Given the description of an element on the screen output the (x, y) to click on. 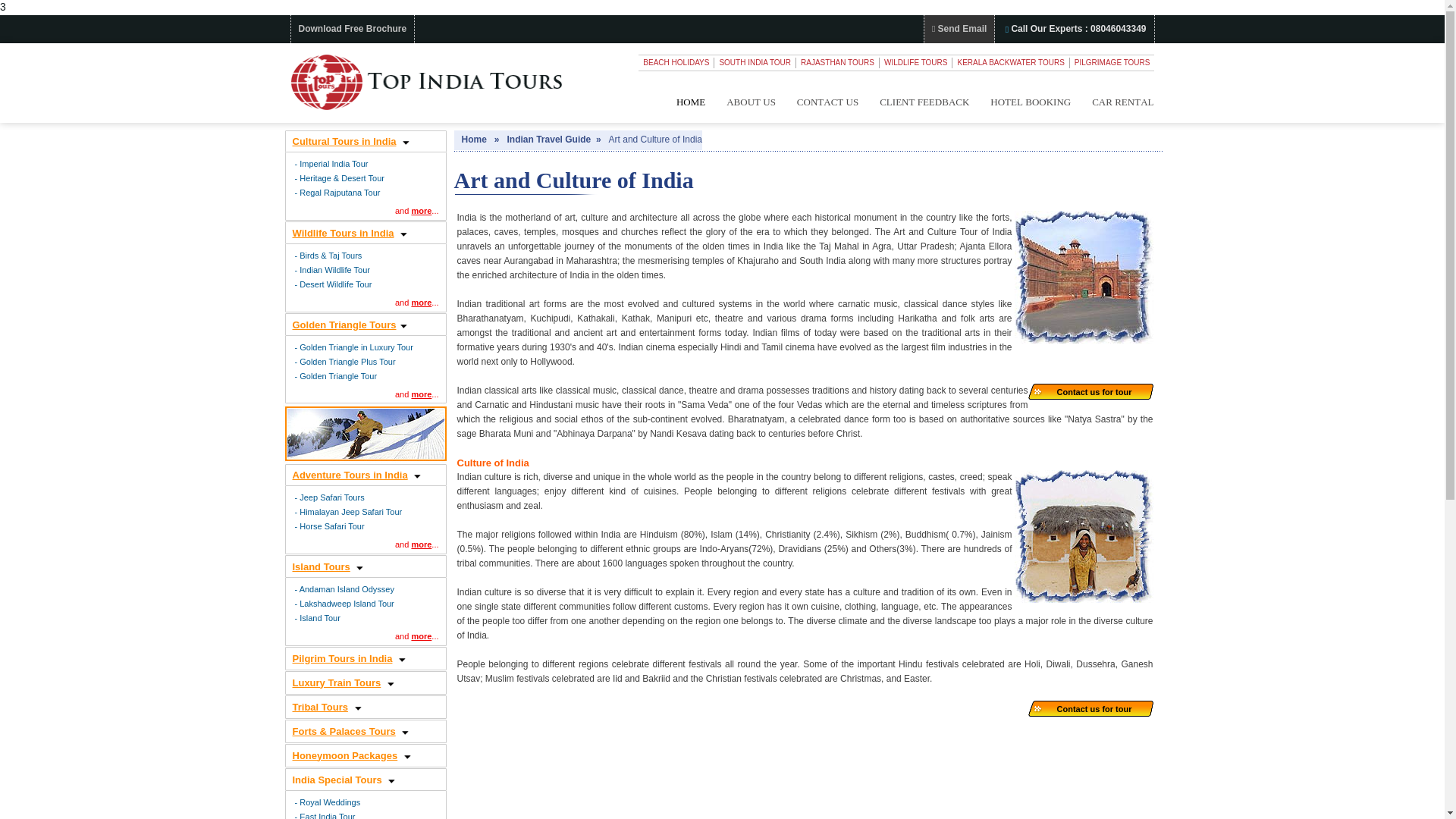
ABOUT US (751, 102)
PILGRIMAGE TOURS (1112, 62)
HOTEL BOOKING (1030, 102)
Wildlife Tours in India (343, 233)
Desert Wildlife Tour (335, 283)
Island Tour (319, 616)
KERALA BACKWATER TOURS (1010, 62)
BEACH HOLIDAYS (676, 62)
Golden Triangle Tours (344, 324)
Regal Rajputana Tour (339, 192)
Indian Wildlife Tour (334, 269)
more (420, 543)
WILDLIFE TOURS (916, 62)
Lakshadweep Island Tour (346, 603)
Horse Safari Tour (331, 525)
